Given the description of an element on the screen output the (x, y) to click on. 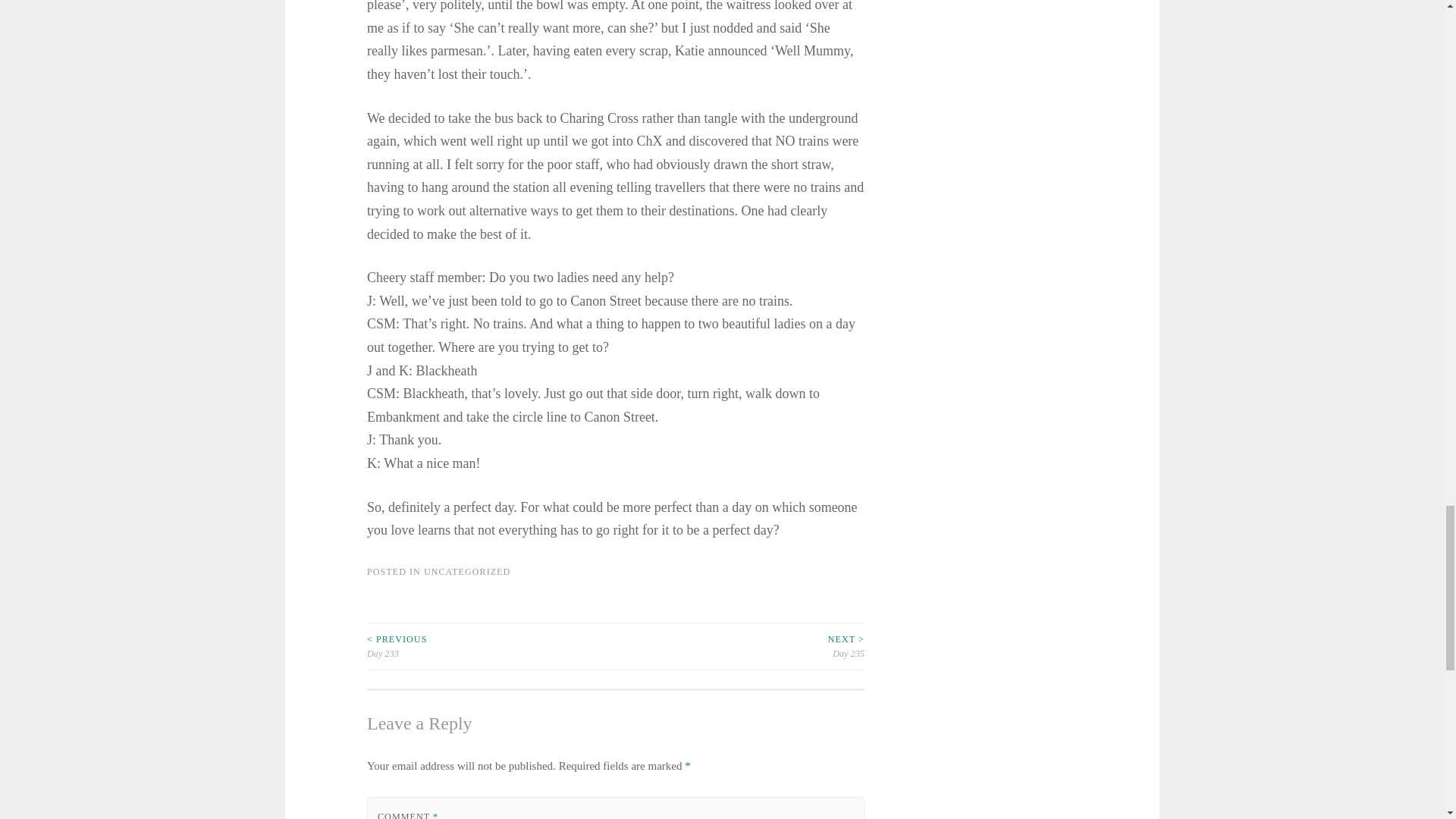
UNCATEGORIZED (467, 571)
